Given the description of an element on the screen output the (x, y) to click on. 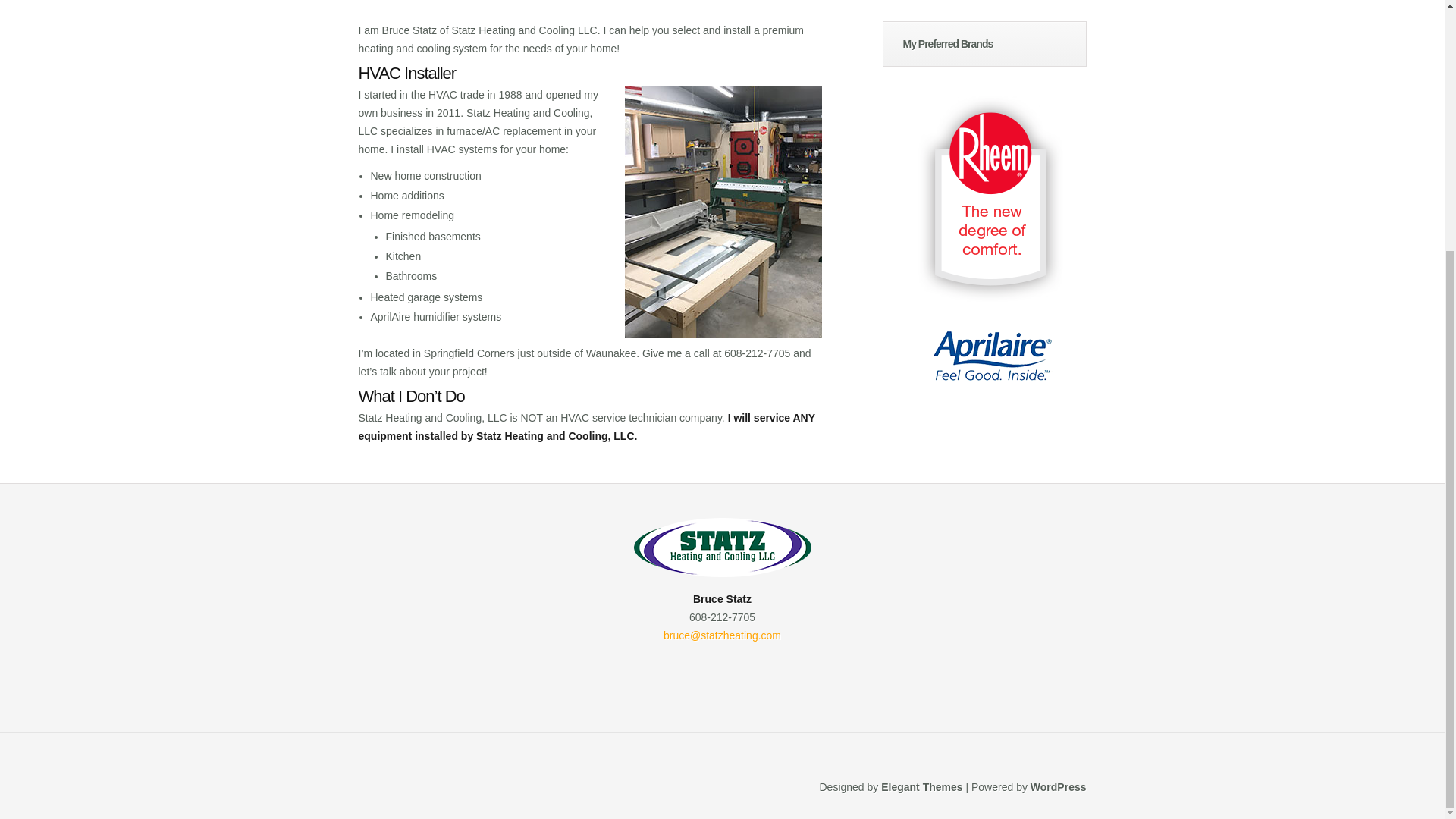
advertisement (991, 355)
Premium WordPress Themes (921, 787)
WordPress (1058, 787)
Elegant Themes (921, 787)
